Given the description of an element on the screen output the (x, y) to click on. 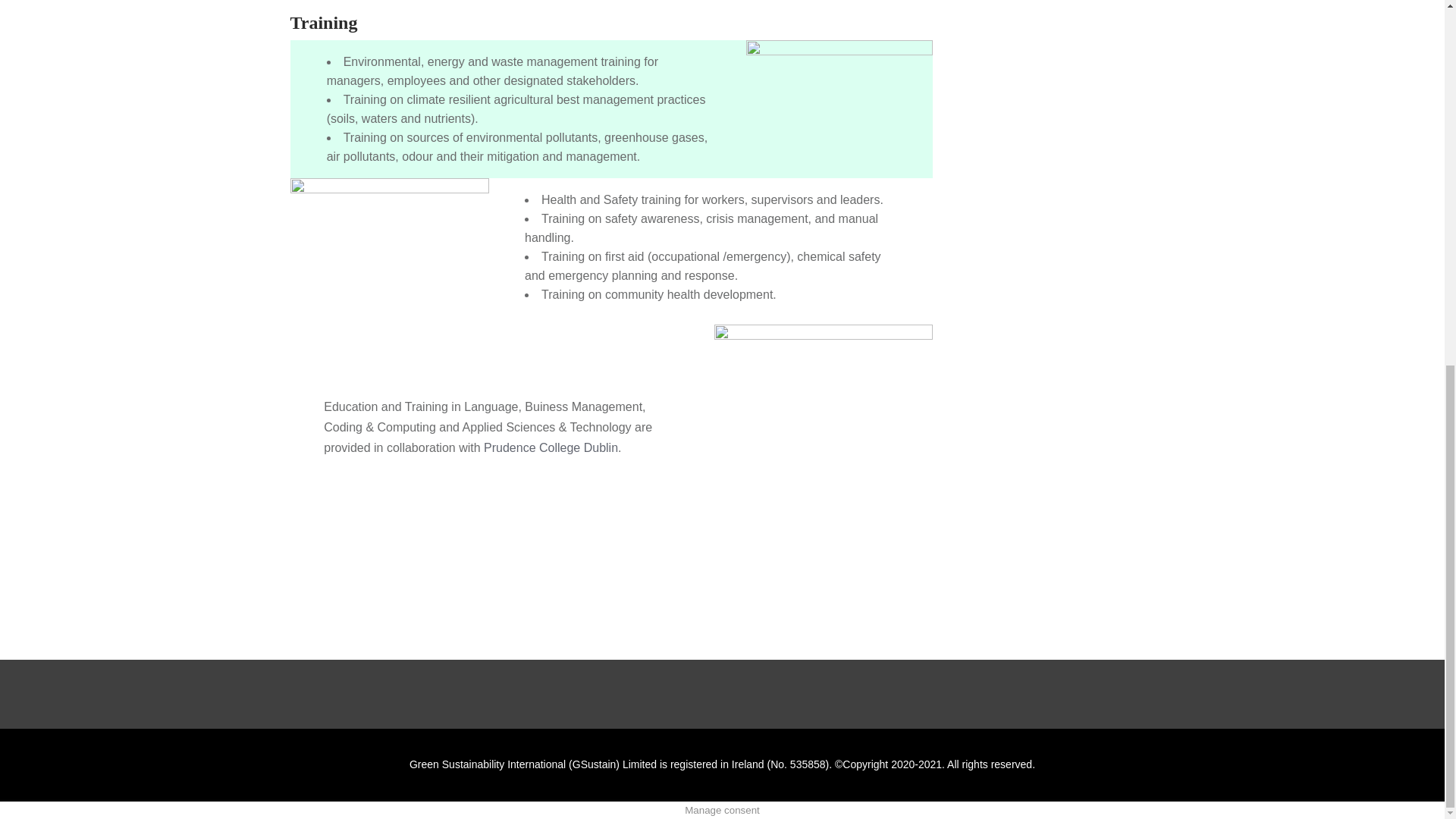
Prudence College Dublin (550, 447)
